Given the description of an element on the screen output the (x, y) to click on. 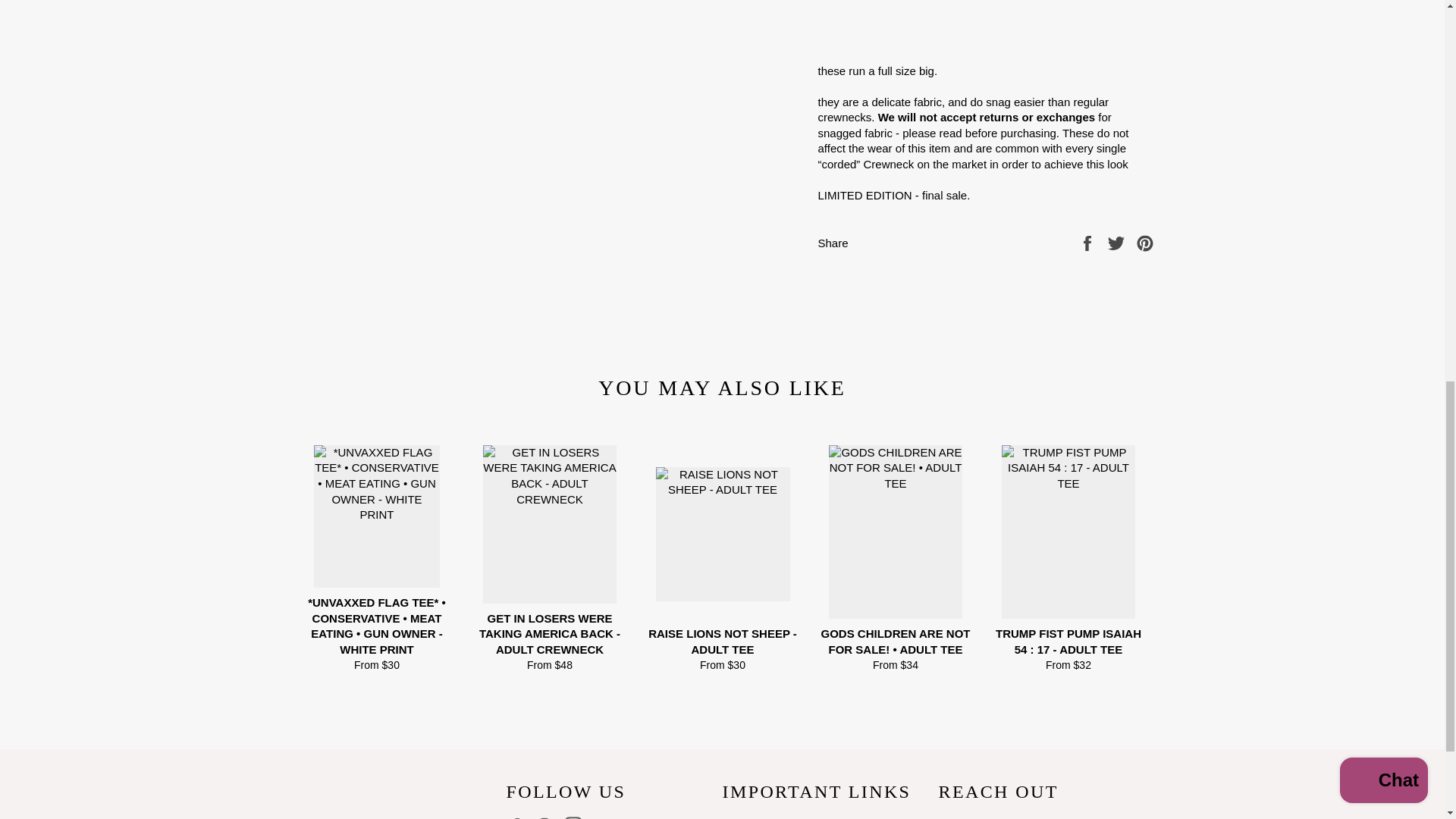
Tweet on Twitter (1117, 241)
Little Hunters Wife on Instagram (576, 817)
Share on Facebook (1088, 241)
Little Hunters Wife on Pinterest (547, 817)
Little Hunters Wife on Facebook (519, 817)
Pin on Pinterest (1144, 241)
